Given the description of an element on the screen output the (x, y) to click on. 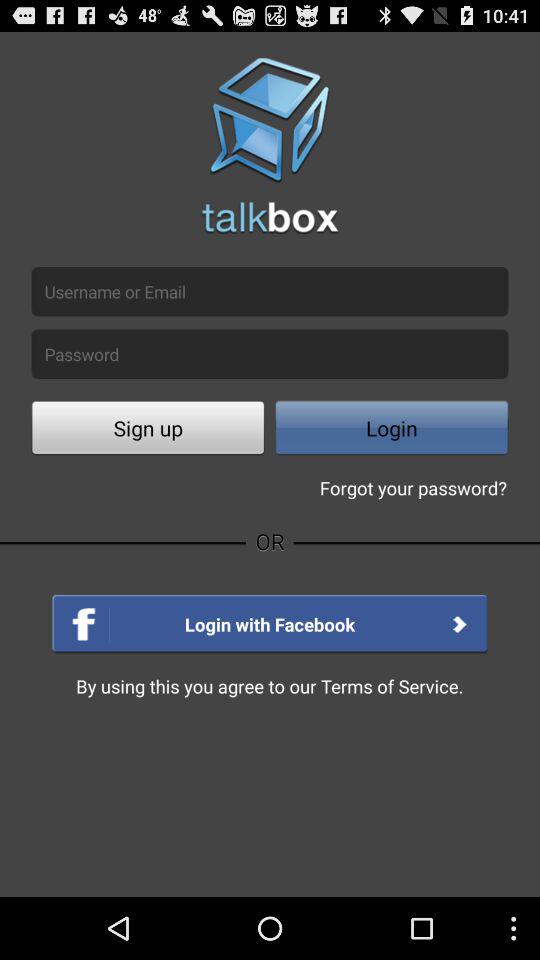
choose item below the login button (413, 487)
